Given the description of an element on the screen output the (x, y) to click on. 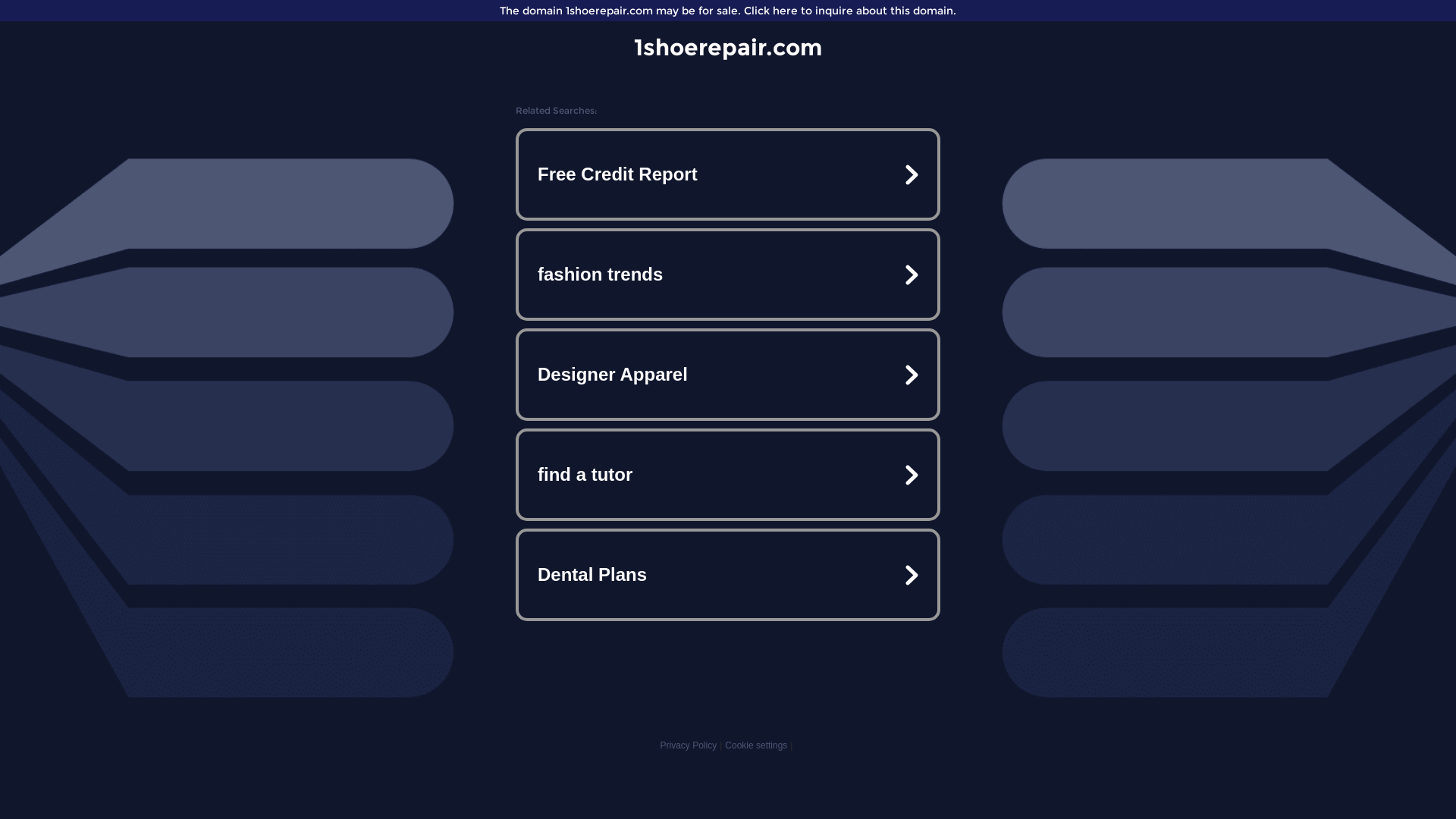
1shoerepair.com Element type: text (727, 47)
Designer Apparel Element type: text (727, 374)
Cookie settings Element type: text (755, 745)
fashion trends Element type: text (727, 274)
Dental Plans Element type: text (727, 574)
find a tutor Element type: text (727, 474)
Free Credit Report Element type: text (727, 174)
Privacy Policy Element type: text (687, 745)
